Given the description of an element on the screen output the (x, y) to click on. 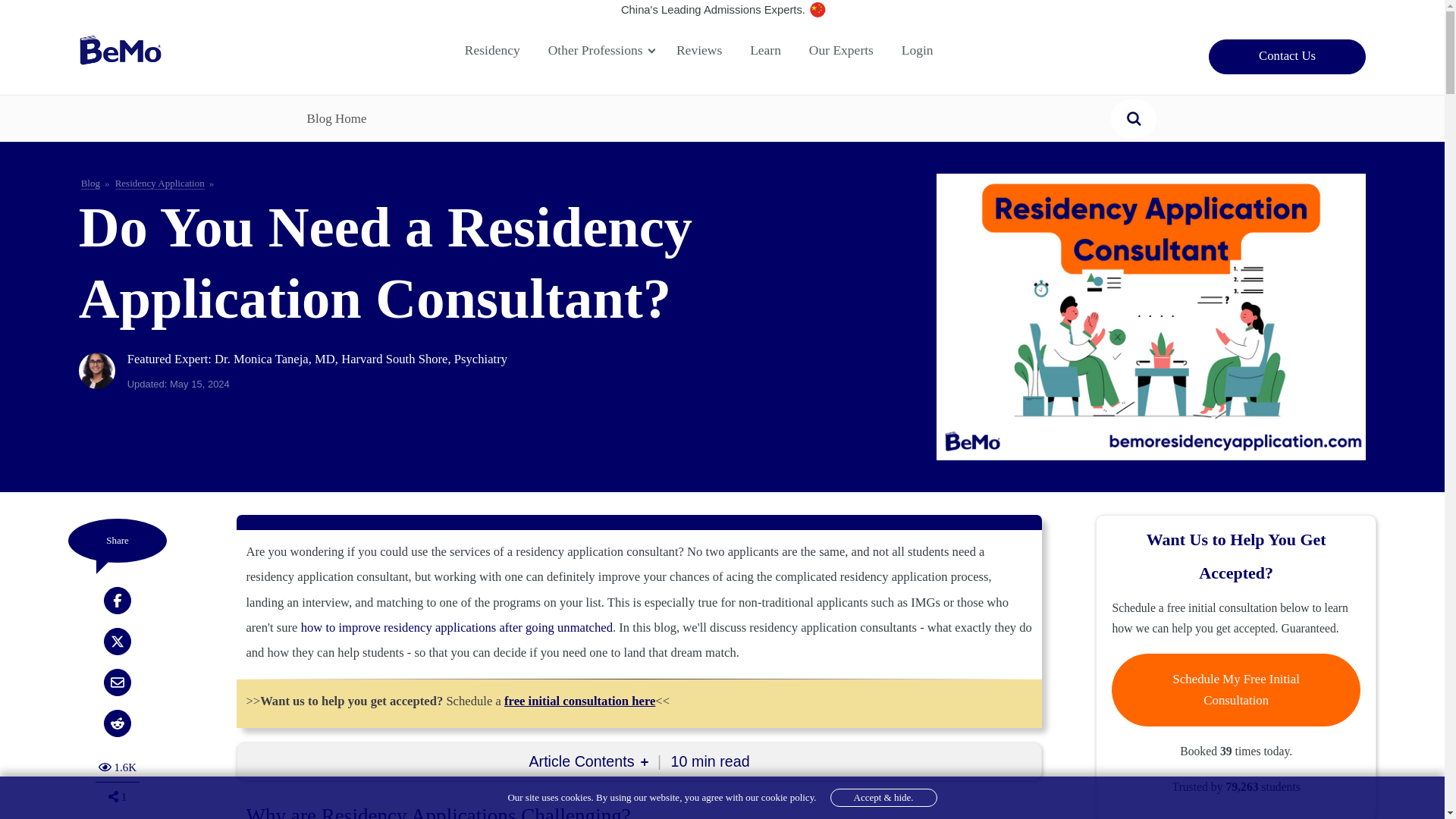
Blog (90, 183)
Login (925, 50)
Reviews (706, 50)
Residency (499, 50)
free initial consultation here (579, 700)
Contact Us (605, 50)
Learn (1287, 56)
Our Experts (773, 50)
how to improve residency applications after going unmatched (849, 50)
Enter search term (456, 626)
Blog Home (1133, 118)
Residency Application (336, 118)
